Given the description of an element on the screen output the (x, y) to click on. 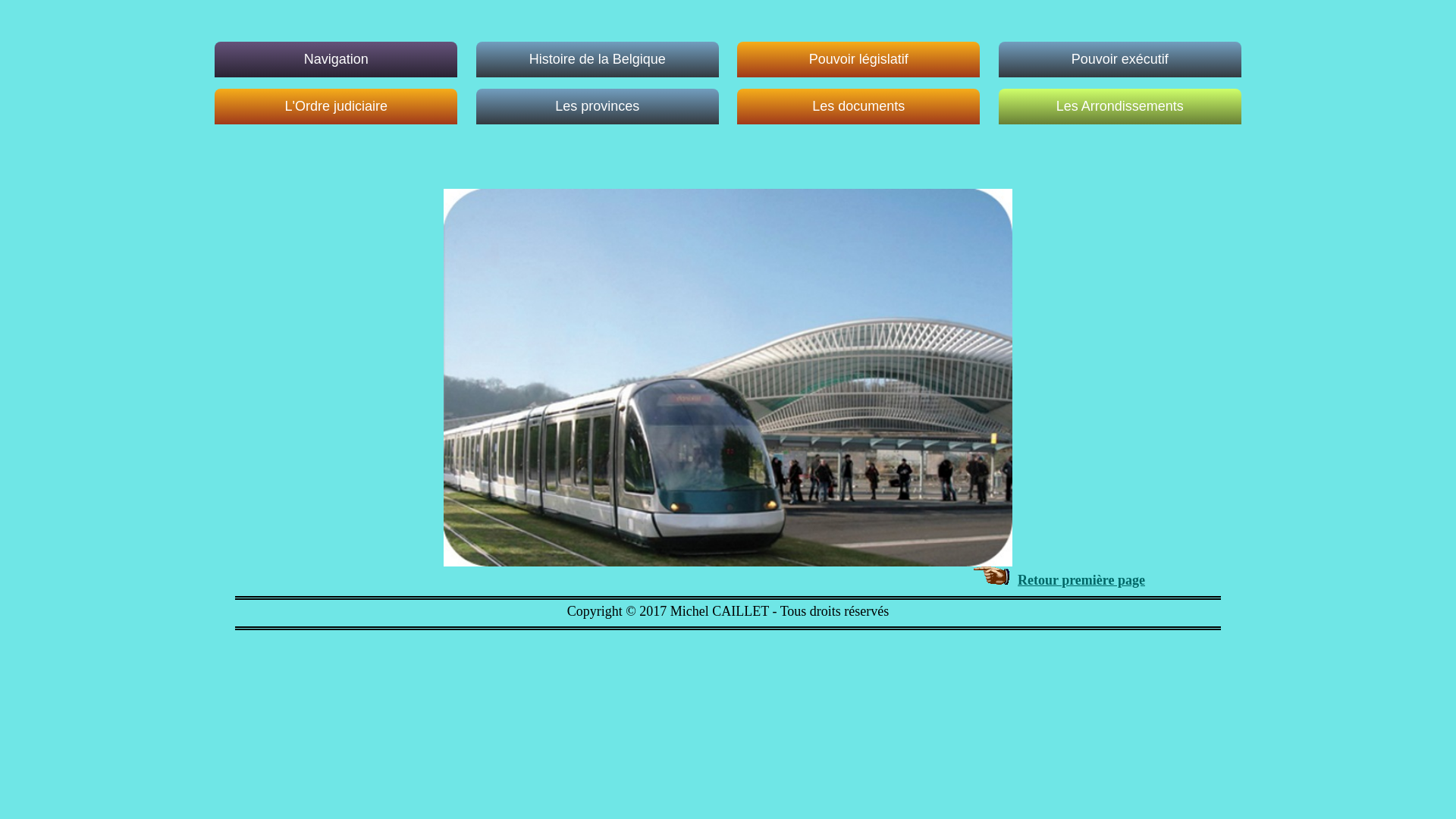
L'Ordre judiciaire Element type: text (335, 106)
Les Arrondissements Element type: text (1119, 106)
Les documents Element type: text (858, 106)
Navigation Element type: text (335, 59)
Les provinces Element type: text (597, 106)
Histoire de la Belgique Element type: text (597, 59)
